Given the description of an element on the screen output the (x, y) to click on. 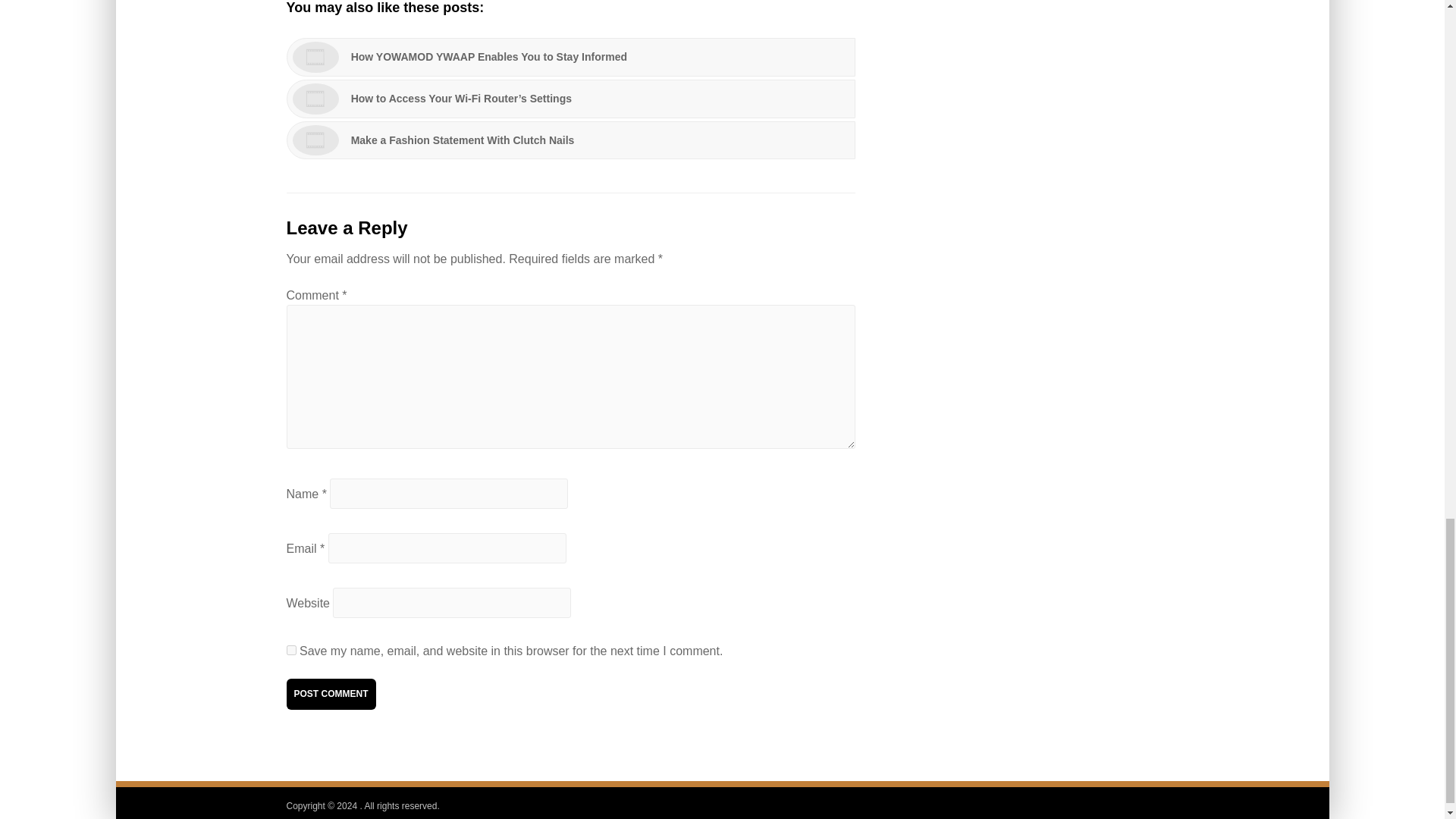
How YOWAMOD YWAAP Enables You to Stay Informed (571, 56)
Make a Fashion Statement With Clutch Nails (571, 140)
Post Comment (330, 694)
yes (291, 650)
Post Comment (330, 694)
How YOWAMOD YWAAP Enables You to Stay Informed (571, 56)
Make a Fashion Statement With Clutch Nails (571, 140)
